Given the description of an element on the screen output the (x, y) to click on. 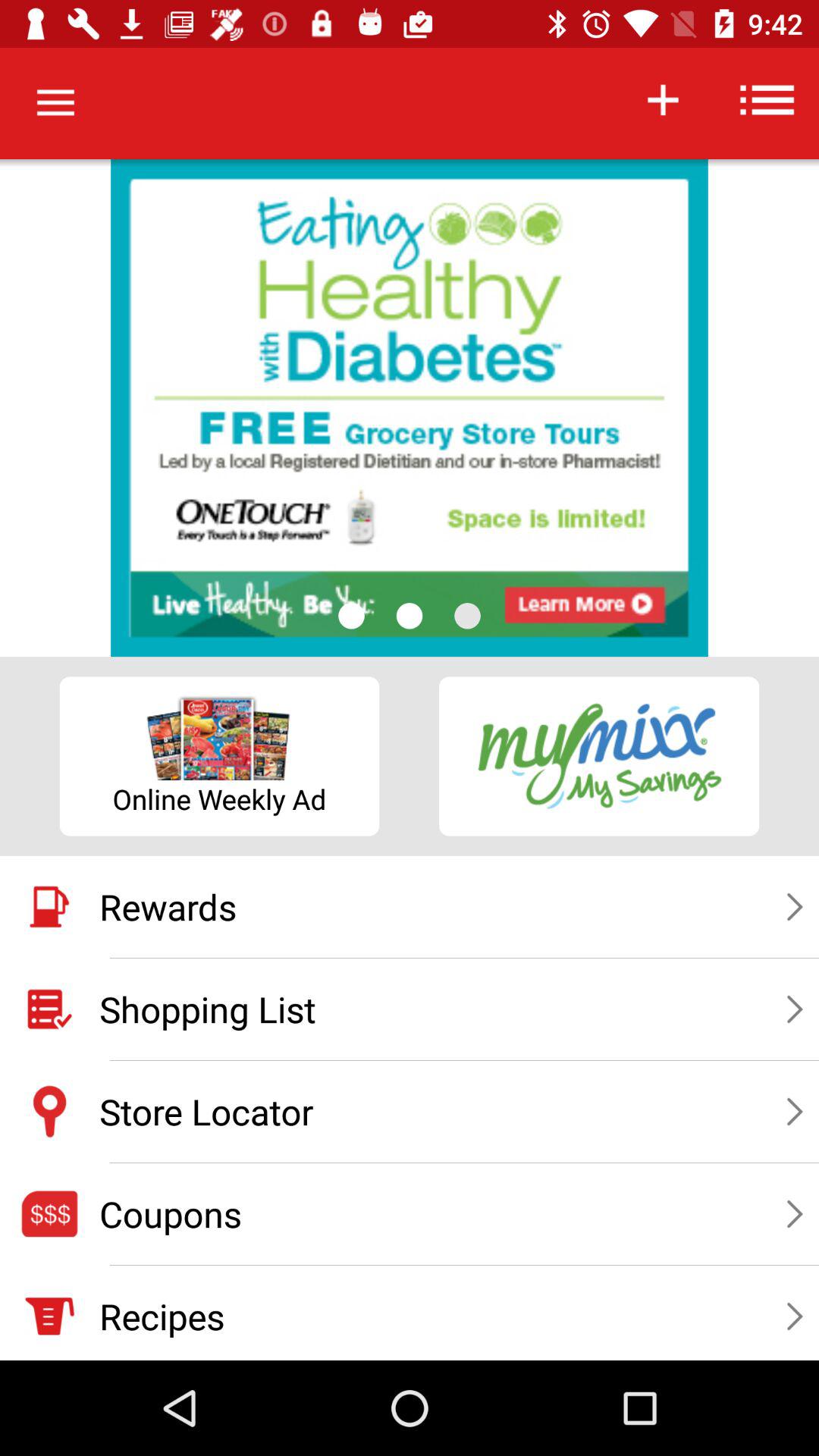
visit advertiser website (409, 407)
